Given the description of an element on the screen output the (x, y) to click on. 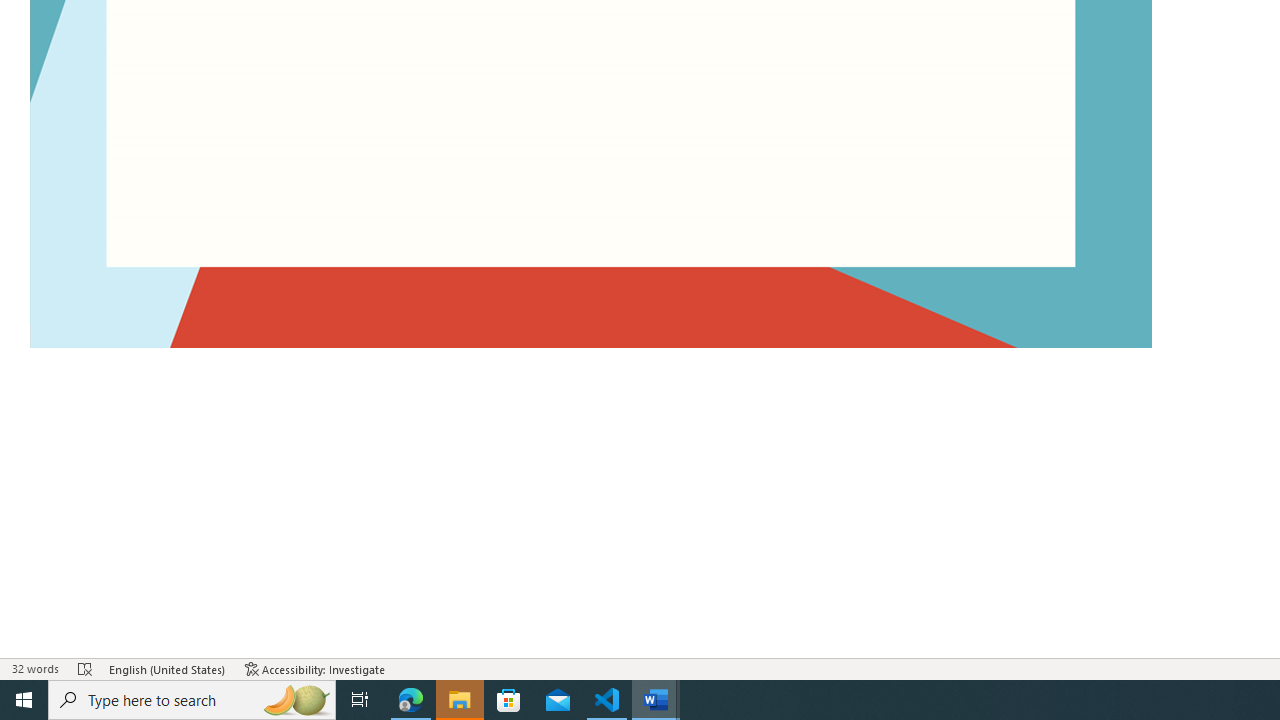
Word Count 32 words (34, 668)
